Given the description of an element on the screen output the (x, y) to click on. 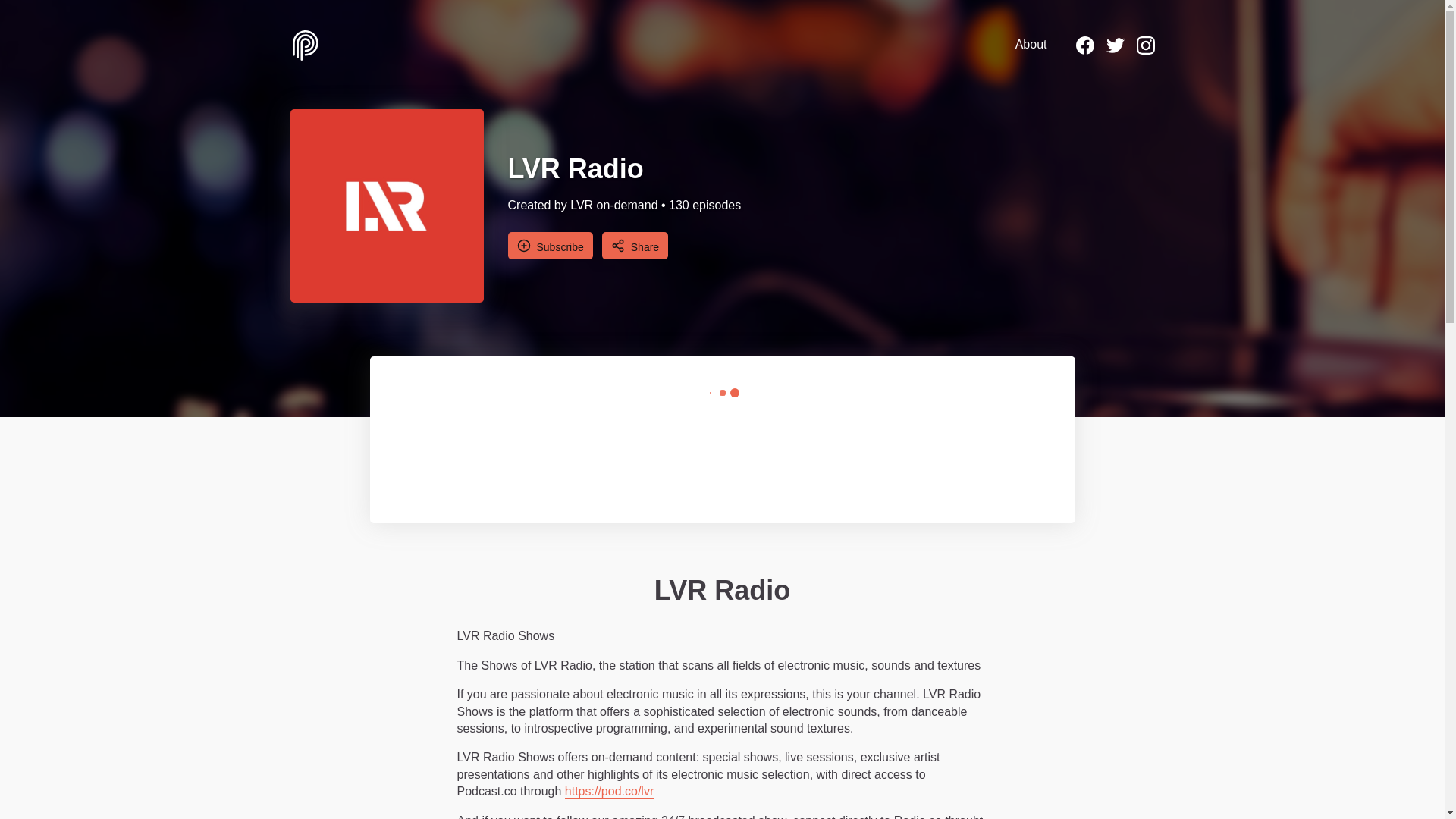
Share (635, 245)
Subscribe (550, 245)
About (1030, 43)
